Given the description of an element on the screen output the (x, y) to click on. 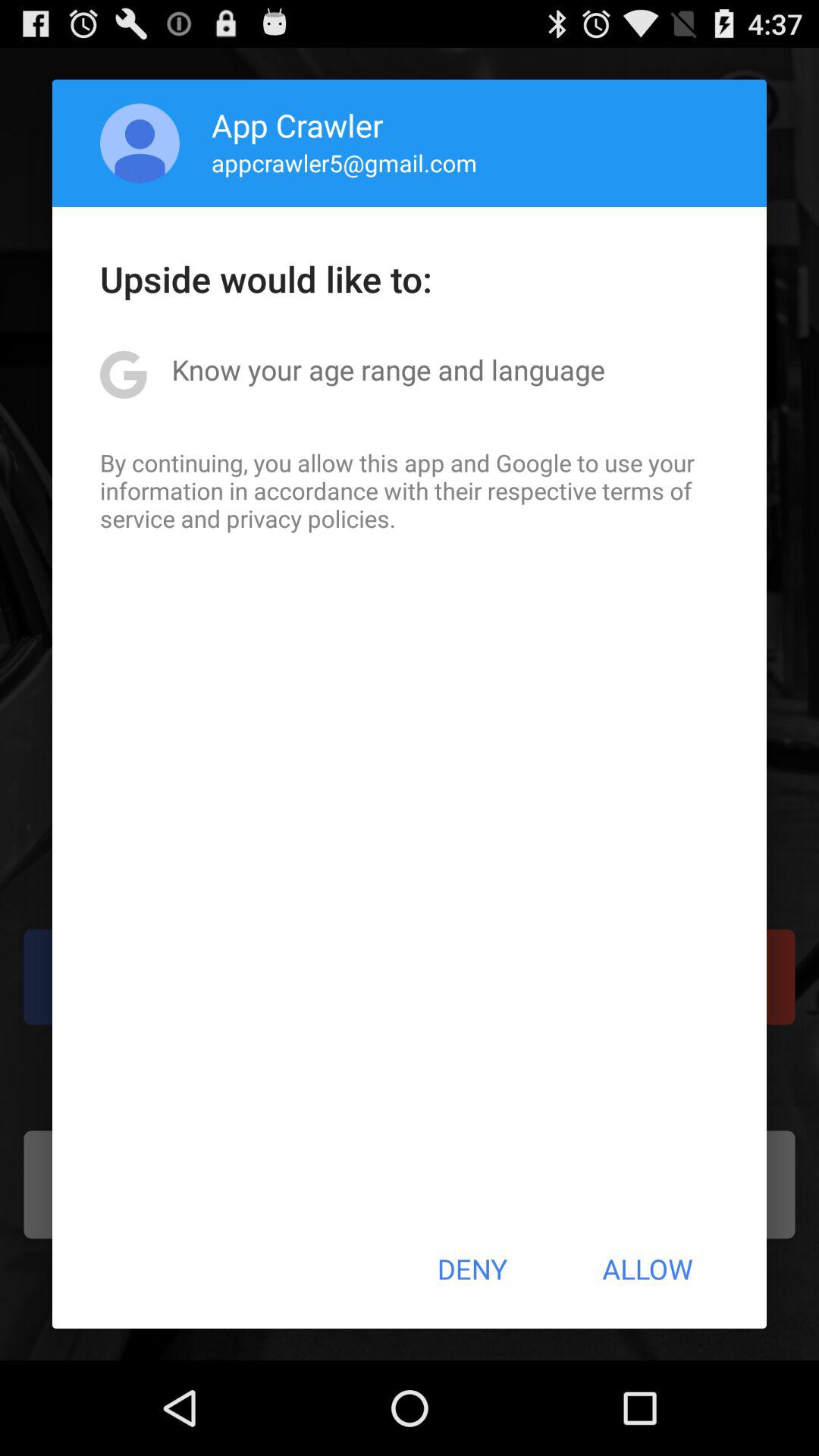
choose the item above upside would like icon (344, 162)
